Given the description of an element on the screen output the (x, y) to click on. 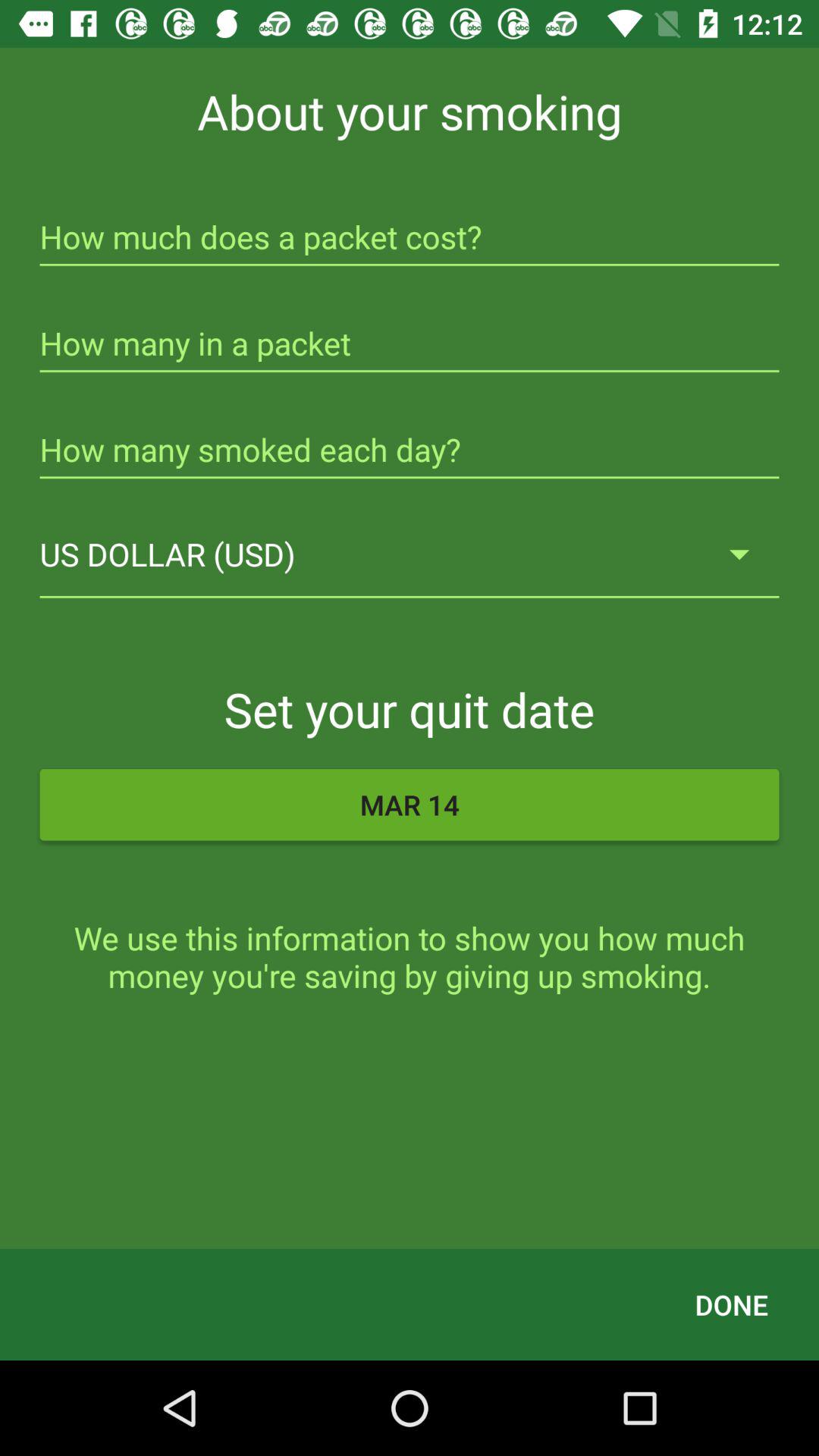
open done (731, 1304)
